Given the description of an element on the screen output the (x, y) to click on. 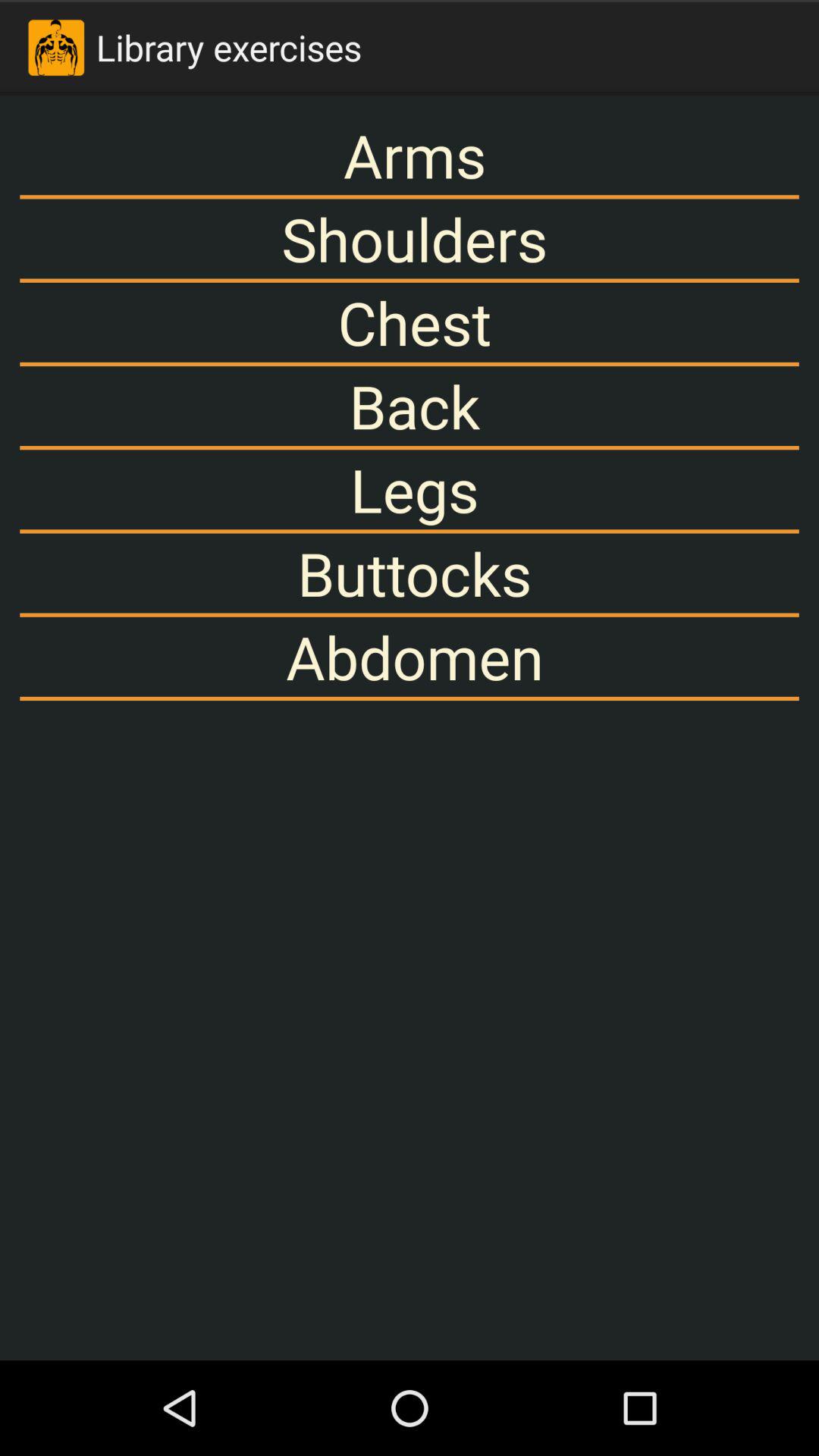
choose app above chest item (409, 238)
